Given the description of an element on the screen output the (x, y) to click on. 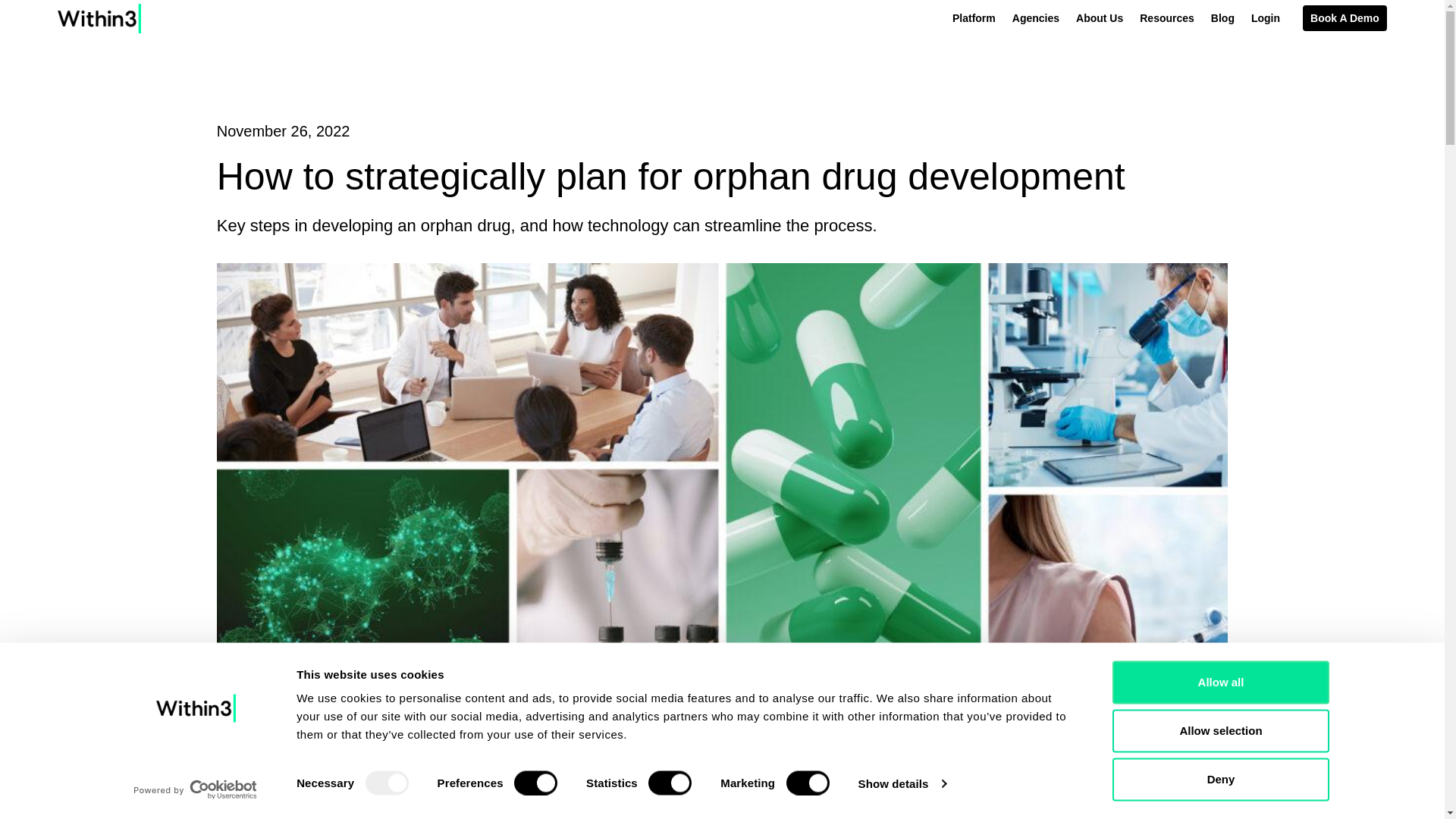
Show details (900, 783)
Deny (1219, 779)
